Given the description of an element on the screen output the (x, y) to click on. 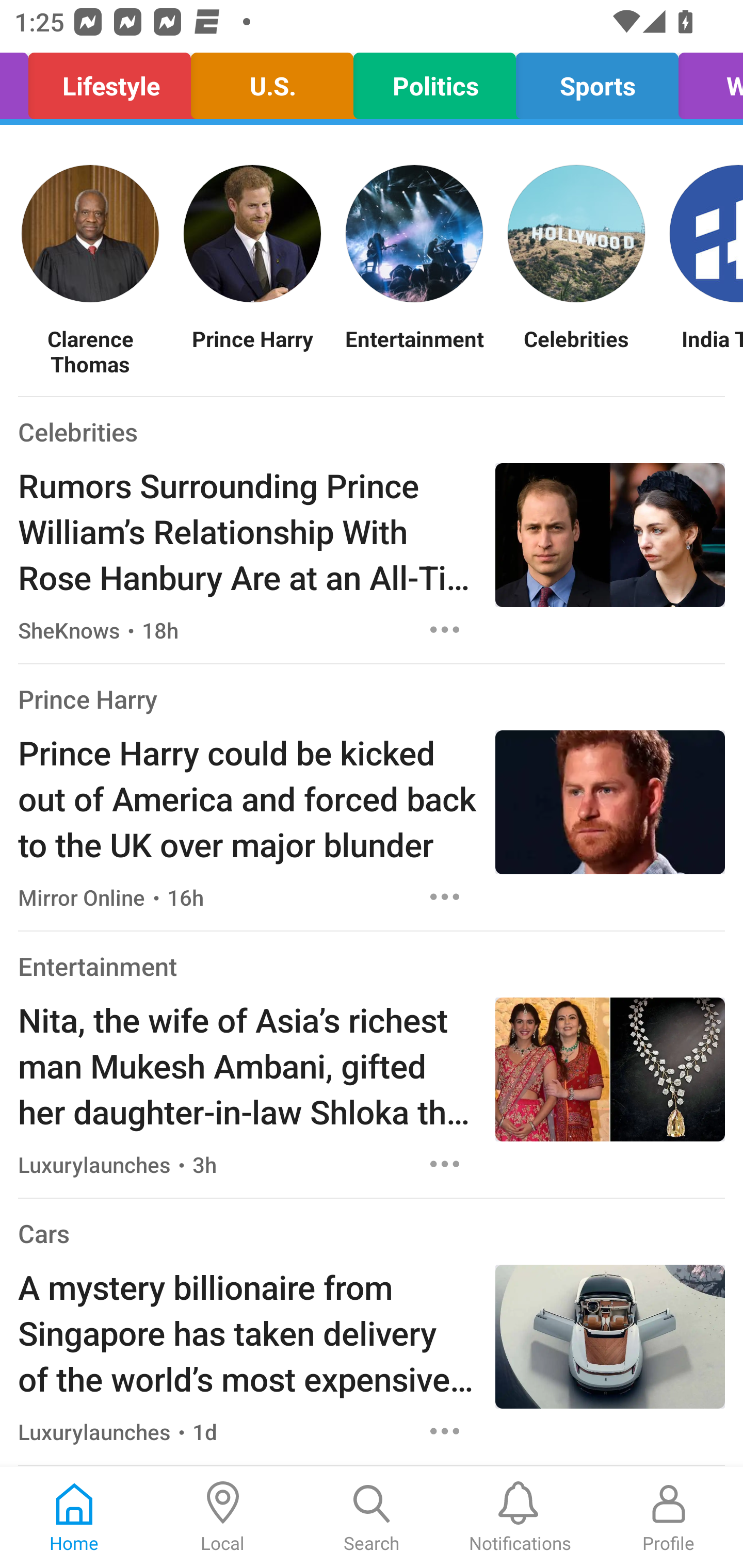
Lifestyle (109, 81)
U.S. (271, 81)
Politics (434, 81)
Sports (597, 81)
Clarence Thomas (89, 350)
Prince Harry (251, 350)
Entertainment (413, 350)
Celebrities (575, 350)
Celebrities (77, 430)
Options (444, 629)
Prince Harry (87, 699)
Options (444, 896)
Entertainment (97, 965)
Options (444, 1164)
Cars (43, 1232)
Options (444, 1431)
Local (222, 1517)
Search (371, 1517)
Notifications (519, 1517)
Profile (668, 1517)
